Given the description of an element on the screen output the (x, y) to click on. 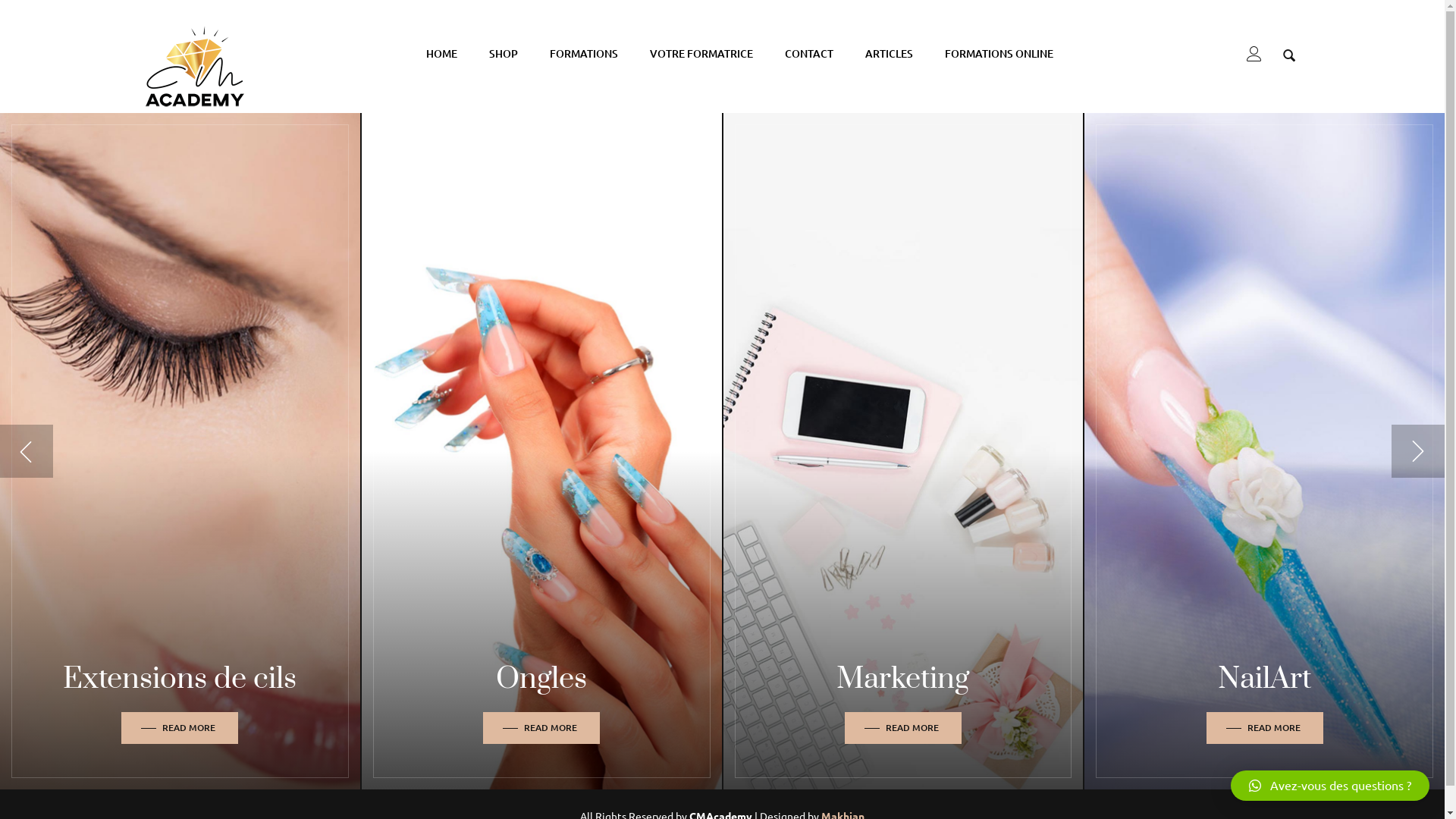
Avez-vous des questions ? Element type: text (1329, 785)
Marketing
READ MORE Element type: text (903, 450)
Ongles
READ MORE Element type: text (541, 450)
SHOP Element type: text (503, 53)
CONTACT Element type: text (808, 53)
VOTRE FORMATRICE Element type: text (700, 53)
FORMATIONS ONLINE Element type: text (992, 53)
ARTICLES Element type: text (888, 53)
NailArt
READ MORE Element type: text (1264, 450)
HOME Element type: text (440, 53)
FORMATIONS Element type: text (583, 53)
Extensions de cils
READ MORE Element type: text (180, 450)
